Given the description of an element on the screen output the (x, y) to click on. 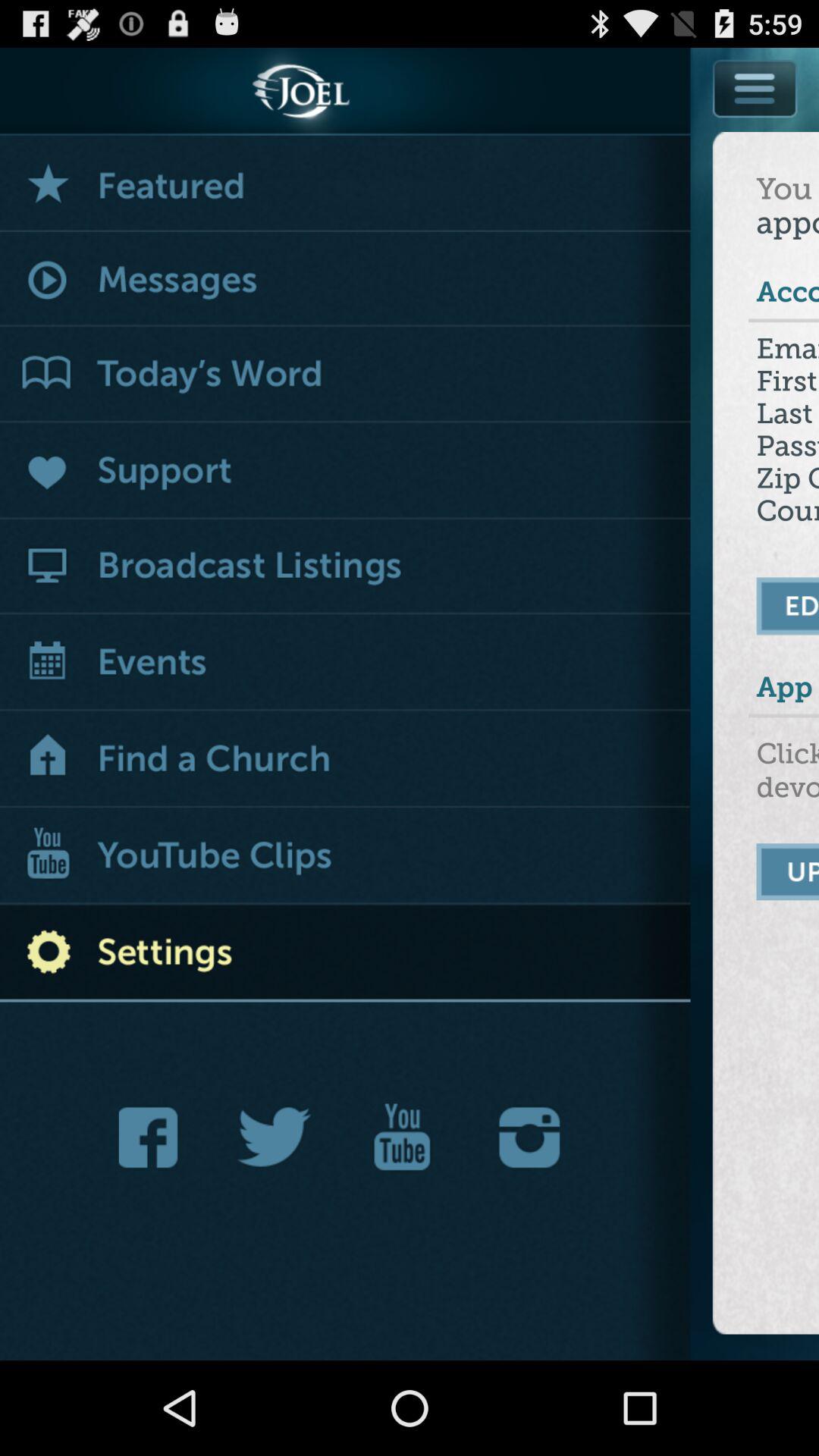
tweet about this (274, 1137)
